Given the description of an element on the screen output the (x, y) to click on. 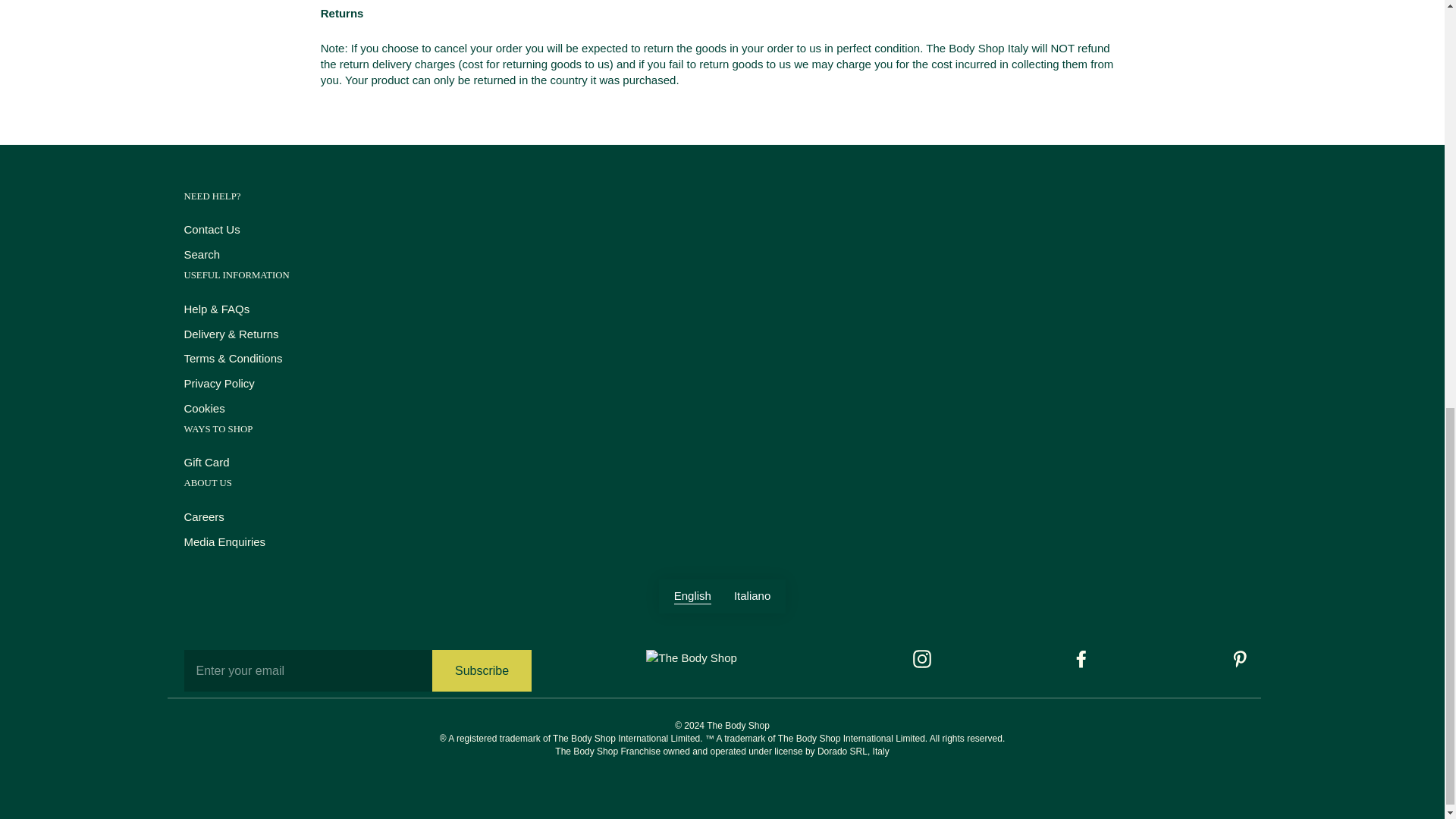
The Body Shop on Instagram (921, 659)
The Body Shop on Pinterest (1239, 659)
The Body Shop on Facebook (1080, 659)
